Given the description of an element on the screen output the (x, y) to click on. 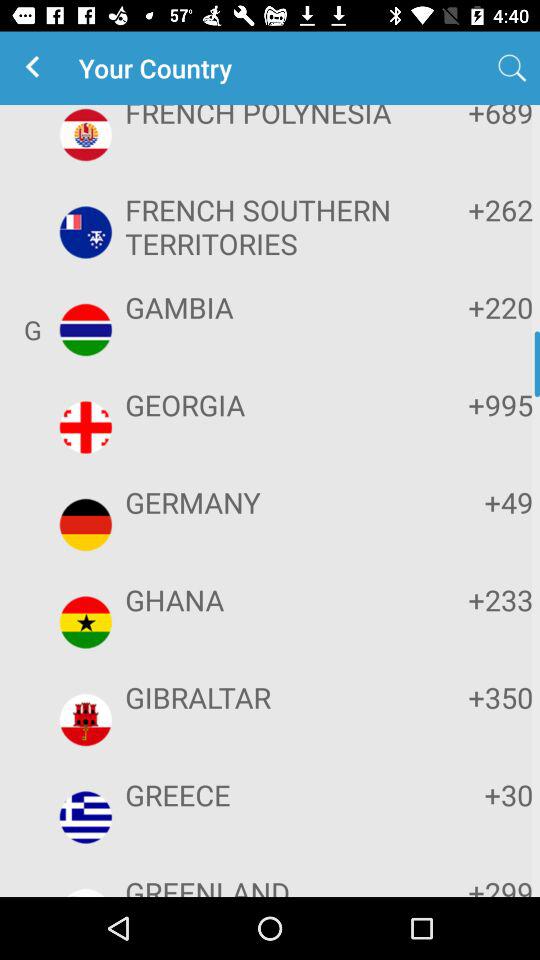
tap +262 item (471, 209)
